Given the description of an element on the screen output the (x, y) to click on. 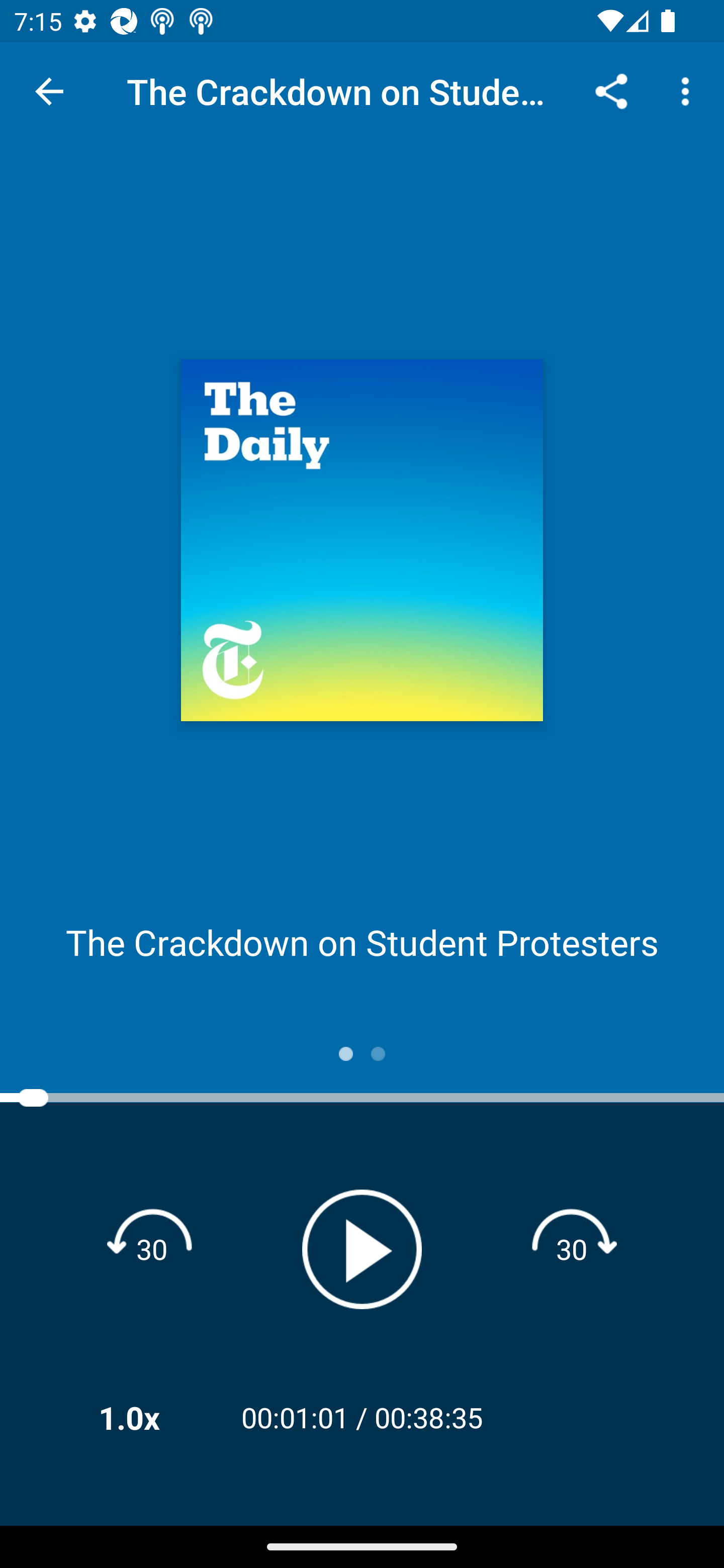
Navigate up (49, 91)
Share... (611, 90)
More options (688, 90)
Play (361, 1249)
Rewind (151, 1248)
Fast forward (571, 1248)
1.0x Playback Speeds (154, 1417)
00:38:35 (428, 1417)
